Given the description of an element on the screen output the (x, y) to click on. 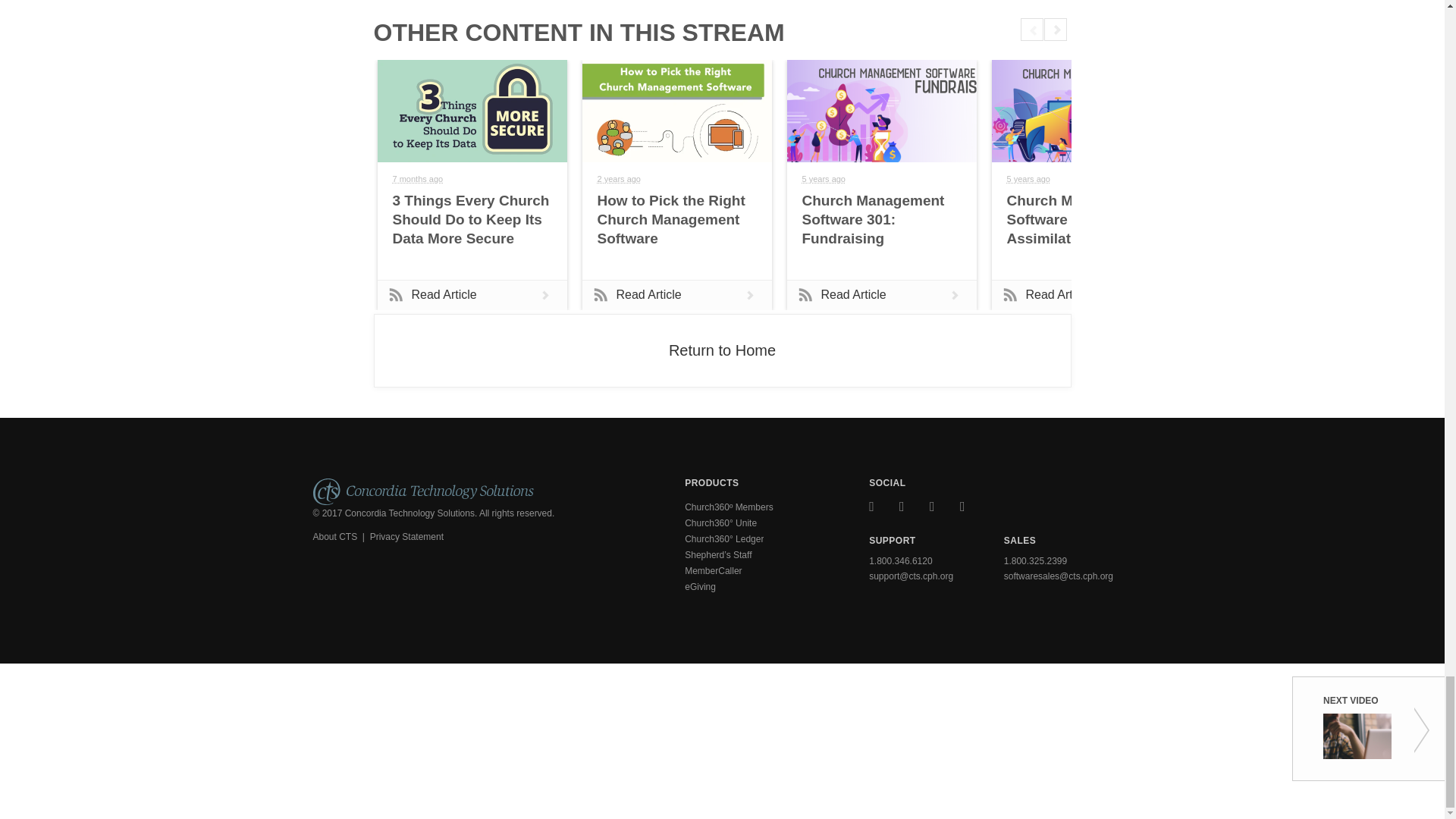
2024-01-08T13:00:00 (418, 178)
2019-08-27T10:00:00 (1028, 178)
2022-10-11T08:00:00 (618, 178)
2019-09-03T10:00:00 (823, 178)
